Given the description of an element on the screen output the (x, y) to click on. 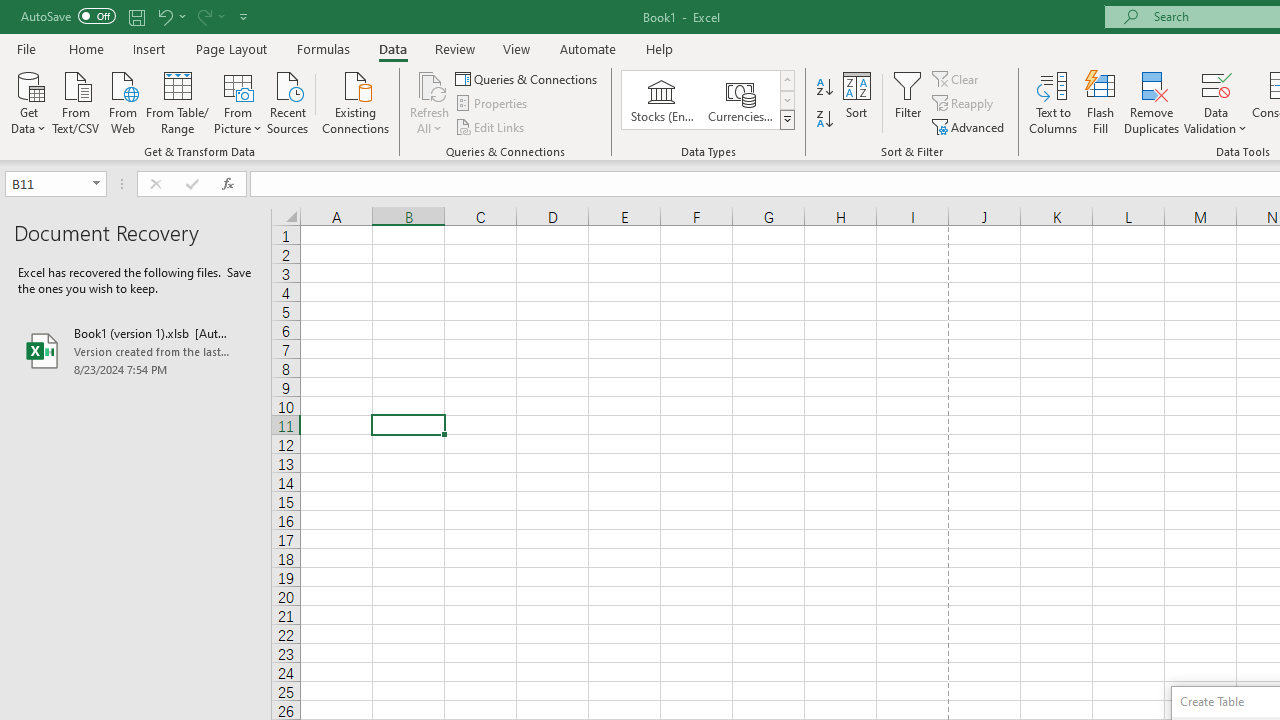
Remove Duplicates (1151, 102)
Filter (908, 102)
Edit Links (491, 126)
Sort A to Z (824, 87)
Recent Sources (287, 101)
Redo (203, 15)
Undo (164, 15)
Review (454, 48)
Home (86, 48)
Refresh All (429, 84)
From Picture (238, 101)
Save (136, 15)
From Web (122, 101)
Sort... (856, 102)
